Given the description of an element on the screen output the (x, y) to click on. 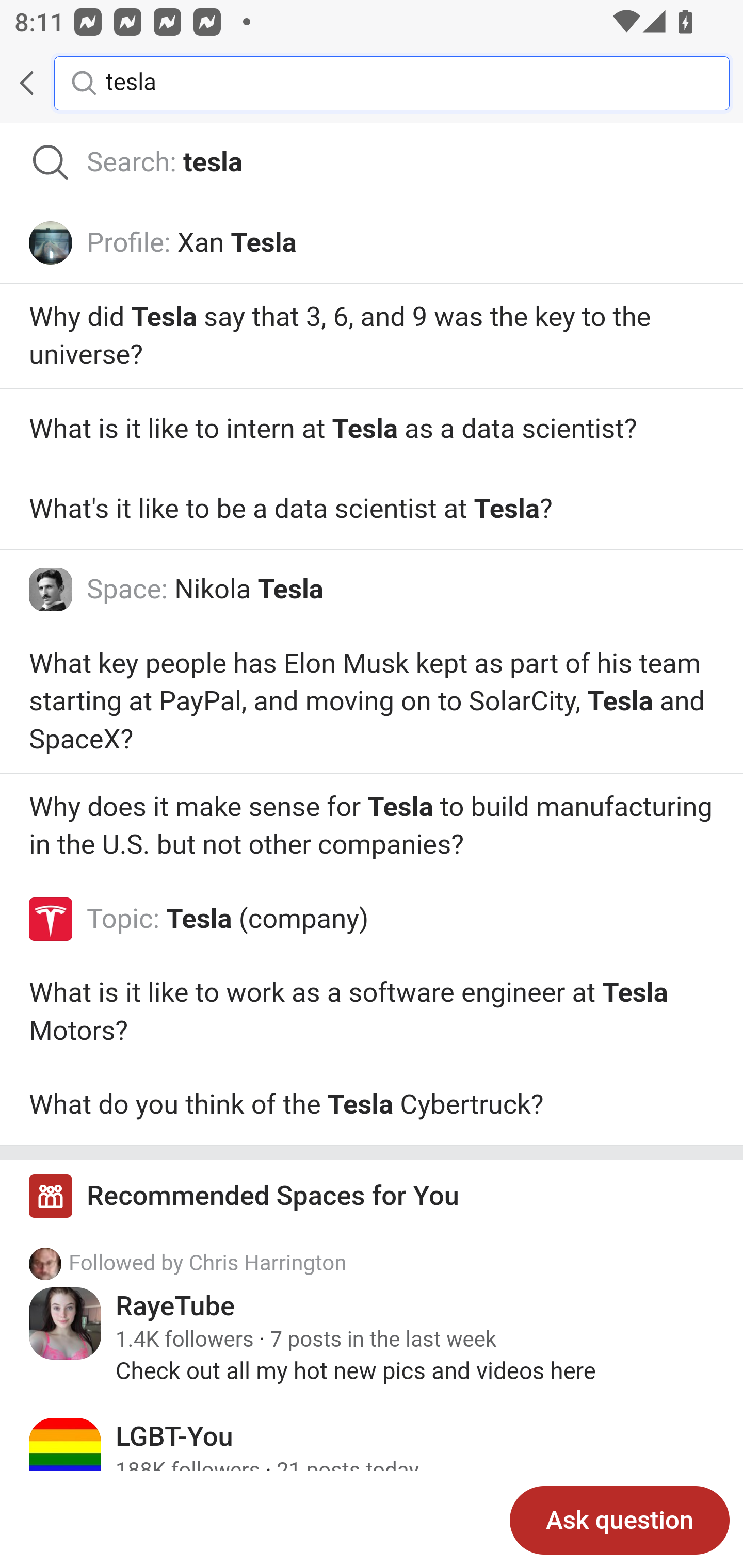
Me (64, 83)
tesla (402, 82)
Search: te (371, 162)
Profile photo for Xan Tesla (50, 241)
Icon for Nikola Tesla (50, 589)
Icon for Tesla (company) (50, 918)
What do you think of the Tesla Cybertruck? (371, 1105)
Icon for RayeTube (65, 1323)
Icon for LGBT-You (65, 1454)
Ask question (619, 1519)
